Given the description of an element on the screen output the (x, y) to click on. 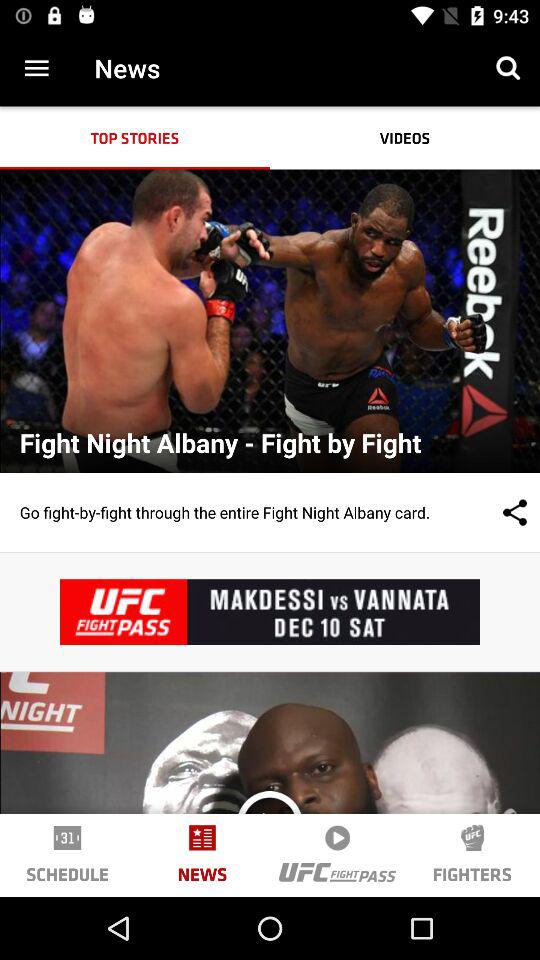
opens an advertisement (270, 612)
